Given the description of an element on the screen output the (x, y) to click on. 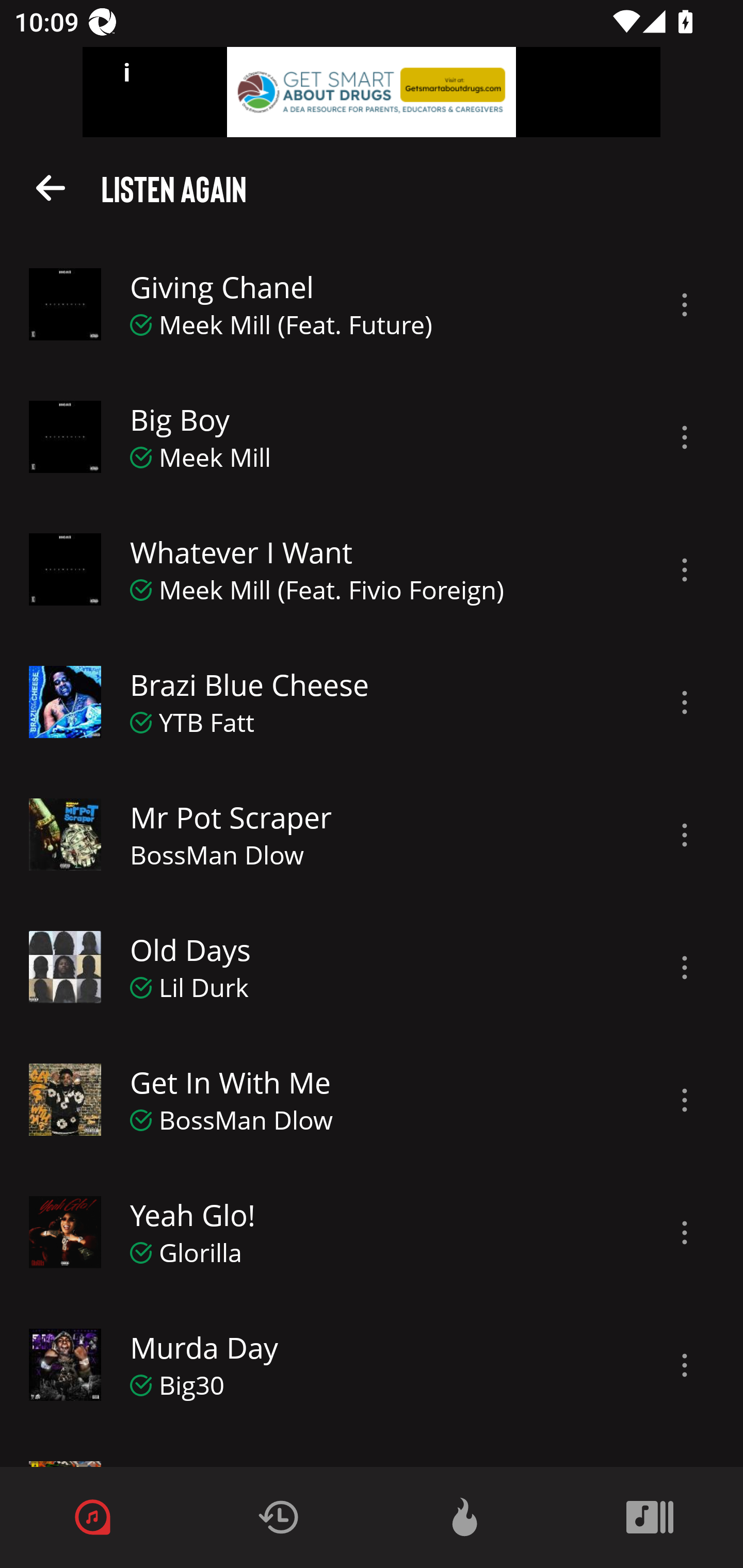
Description (685, 304)
Description (685, 437)
Description (685, 569)
Description (685, 702)
Description (685, 834)
Description (685, 968)
Description (685, 1099)
Description (685, 1233)
Description (685, 1364)
